Given the description of an element on the screen output the (x, y) to click on. 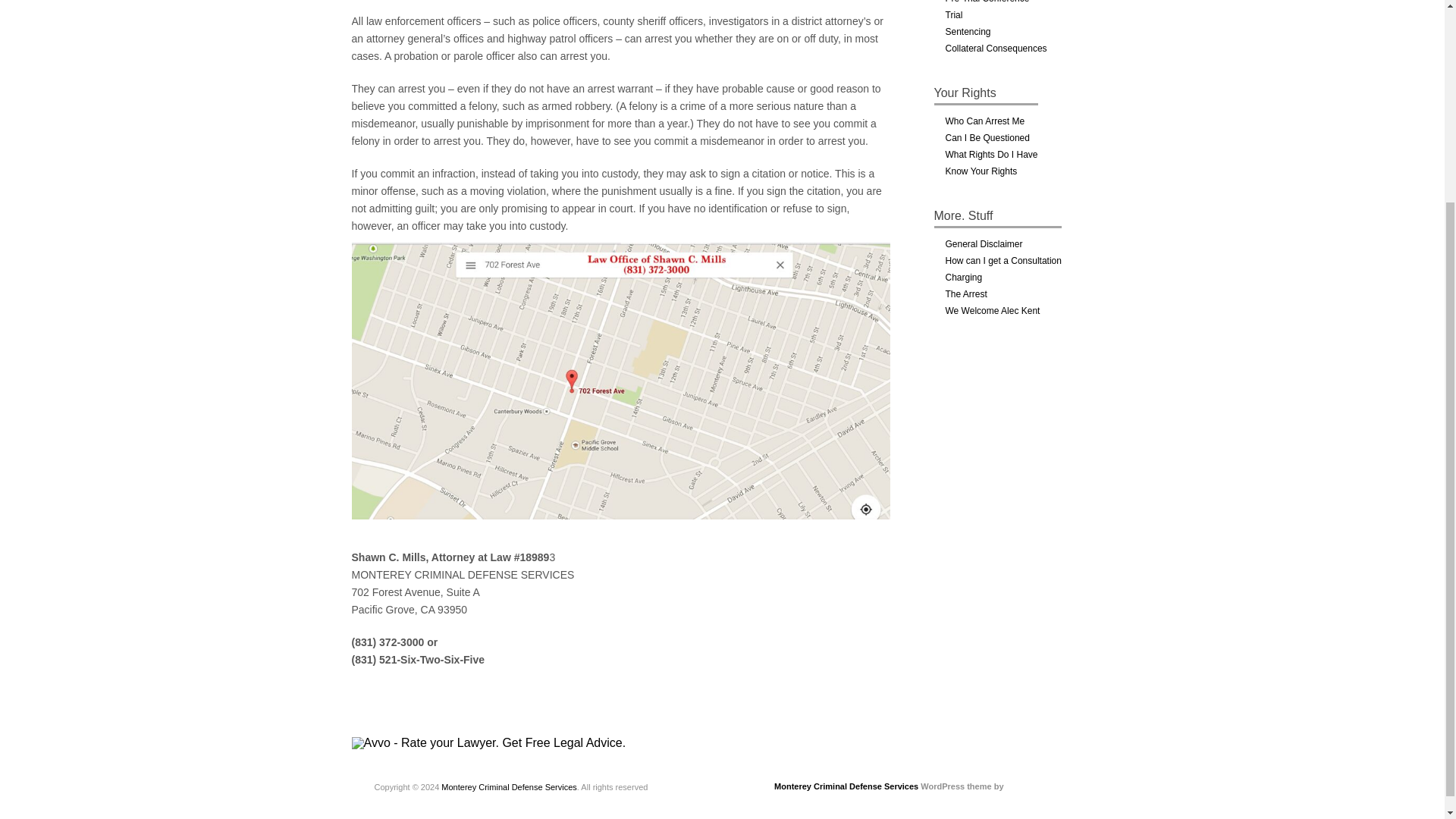
What Rights Do I Have (990, 154)
How can I get a Consultation (1002, 260)
Wordpress themes (1040, 783)
Charging (962, 276)
Sentencing (967, 31)
Who Can Arrest Me (984, 121)
Pre-Trial Conference (986, 2)
Monterey Criminal Defense Services (846, 786)
Know Your Rights (980, 171)
We Welcome Alec Kent (991, 310)
